Given the description of an element on the screen output the (x, y) to click on. 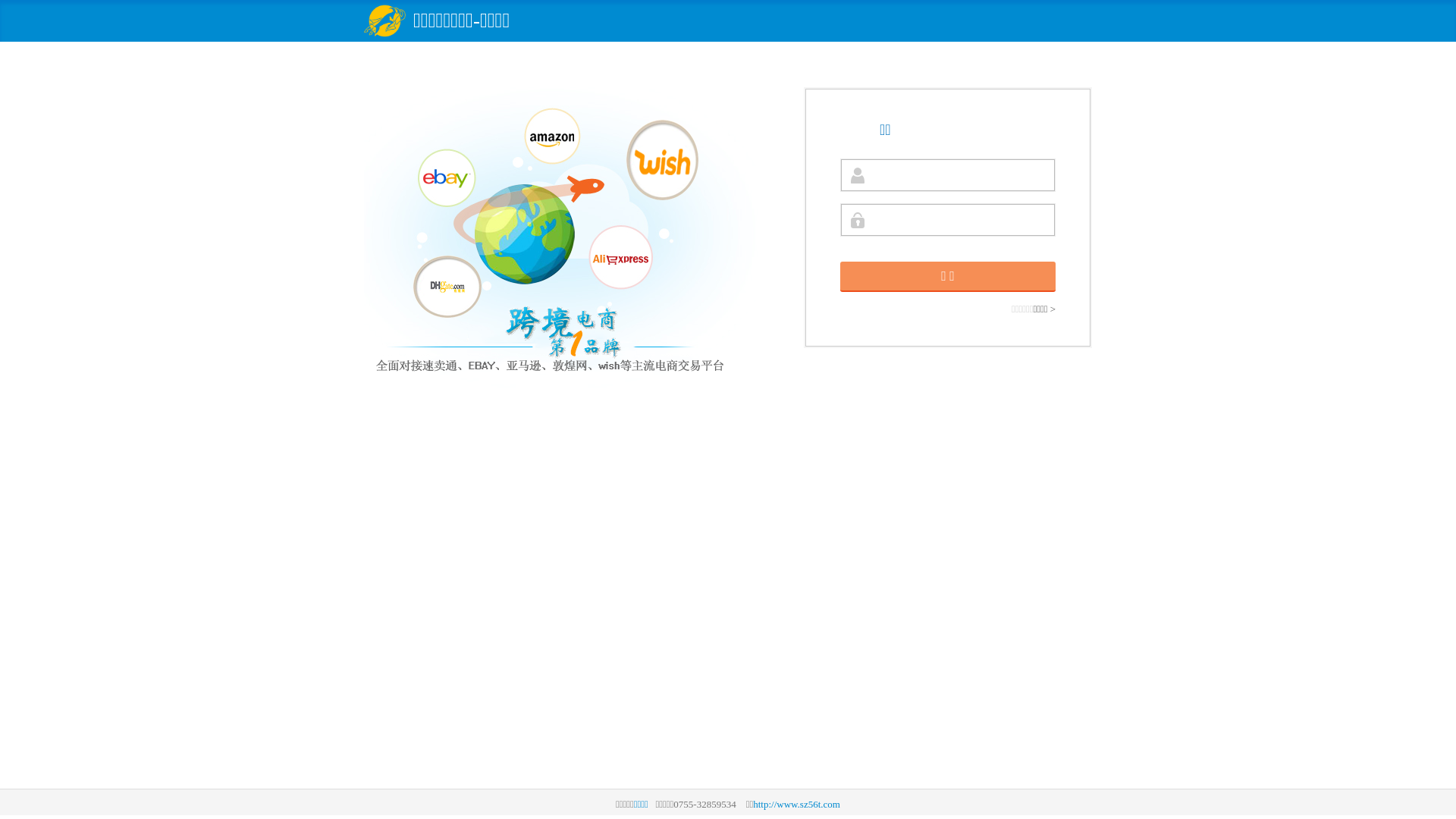
http://www.sz56t.com Element type: text (796, 803)
